Given the description of an element on the screen output the (x, y) to click on. 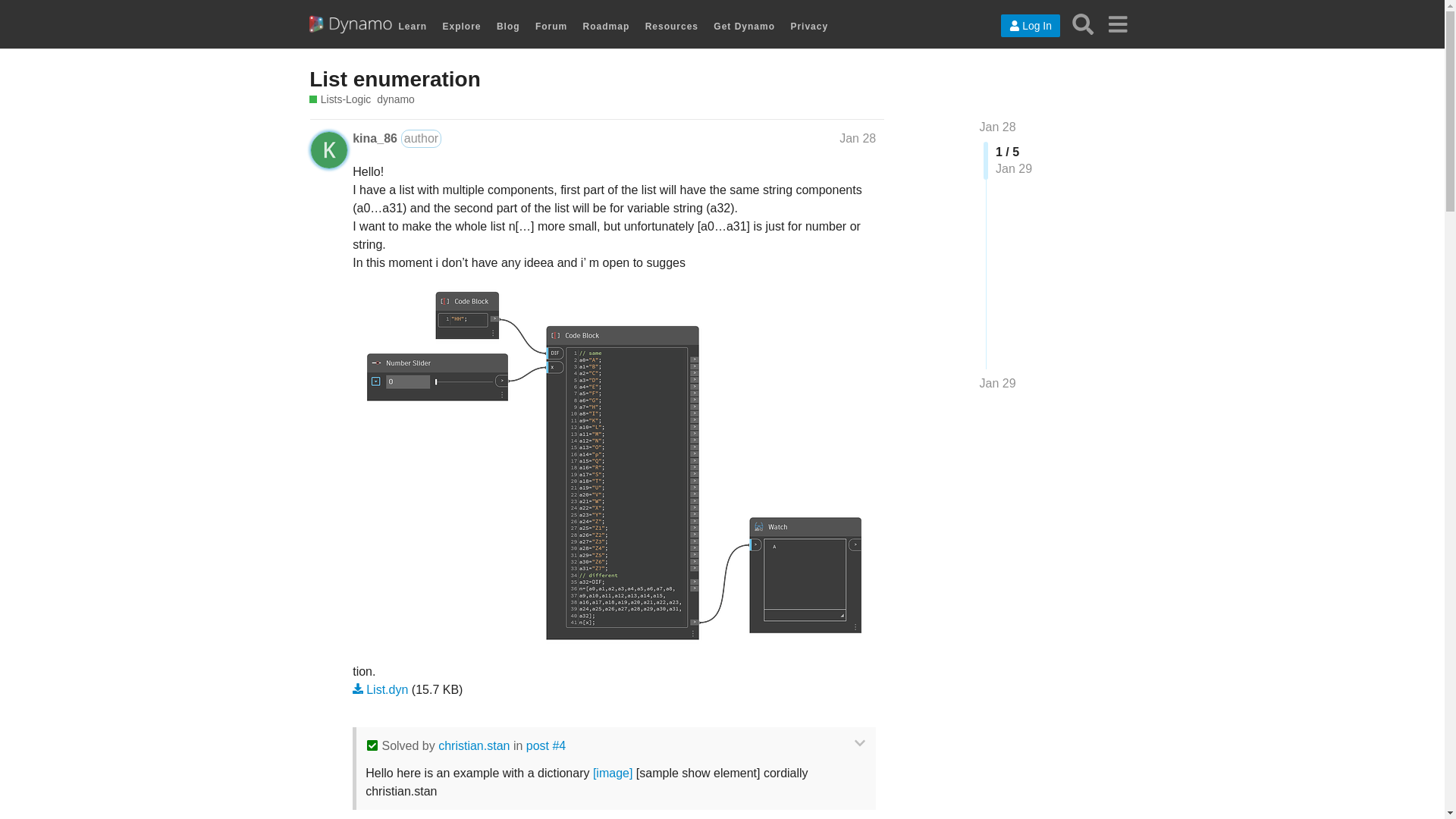
Privacy (809, 26)
Jan 29 (997, 383)
dynamo (395, 99)
Jan 28 (858, 137)
Explore (461, 26)
Forum (551, 26)
Search (1082, 23)
Learn (413, 26)
Jump to the last post (997, 382)
Blog (507, 26)
Log In (1030, 25)
Roadmap (606, 26)
Jan 28 (997, 126)
Lists-Logic (339, 99)
